Given the description of an element on the screen output the (x, y) to click on. 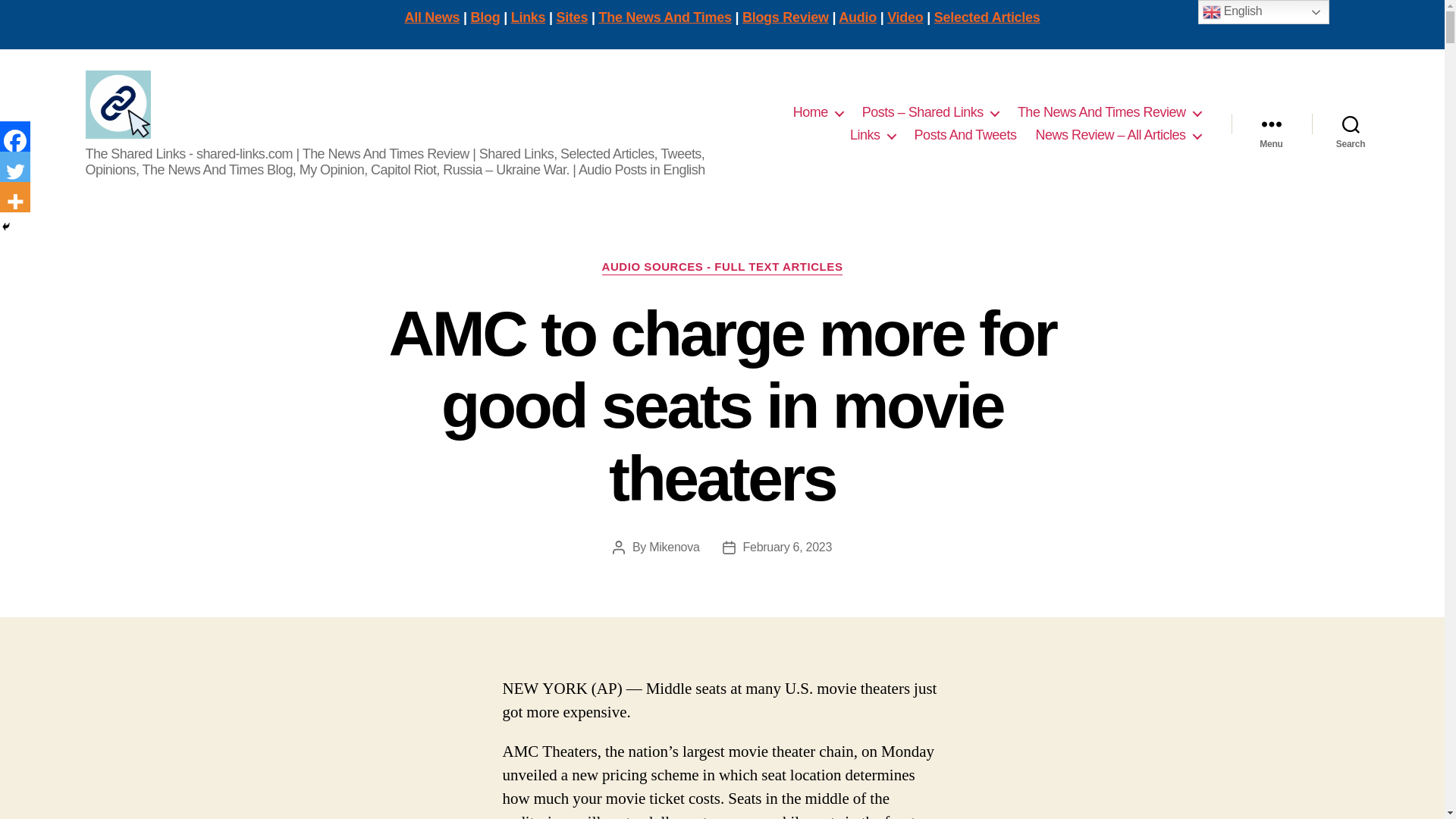
Twitter (15, 166)
Video (904, 17)
Hide (5, 226)
The News And Times Review (1109, 112)
Search (1350, 123)
Menu (1271, 123)
Home (818, 112)
All News (432, 17)
Links (872, 135)
Audio (857, 17)
Posts And Tweets (965, 135)
Blogs Review (785, 17)
Selected Articles (987, 17)
Facebook (15, 136)
More (15, 196)
